Given the description of an element on the screen output the (x, y) to click on. 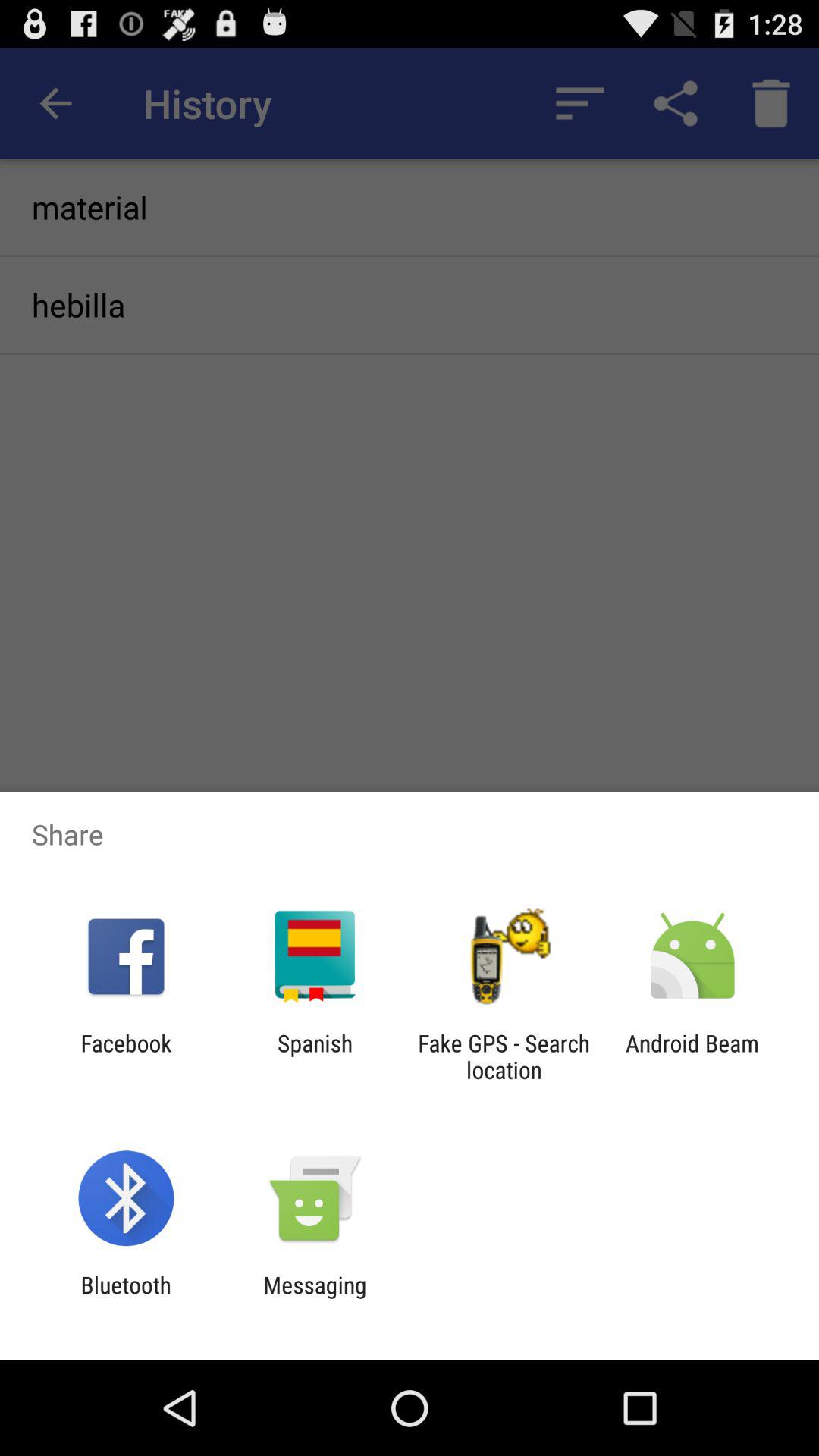
tap app next to the spanish icon (503, 1056)
